Given the description of an element on the screen output the (x, y) to click on. 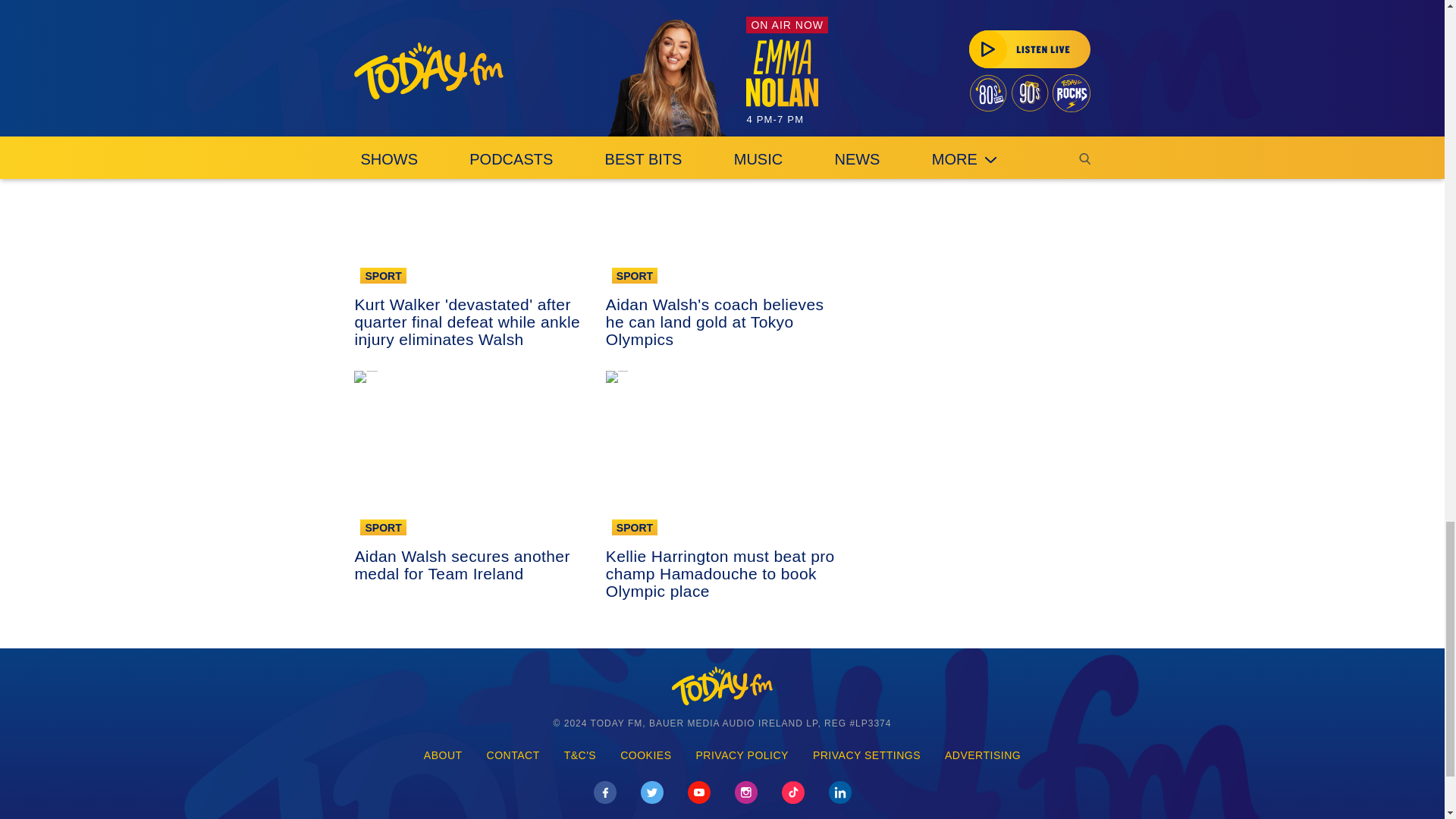
Contact (512, 755)
Advertising (982, 755)
Privacy Policy (742, 755)
Privacy settings (866, 755)
Cookies (645, 755)
About (443, 755)
